Given the description of an element on the screen output the (x, y) to click on. 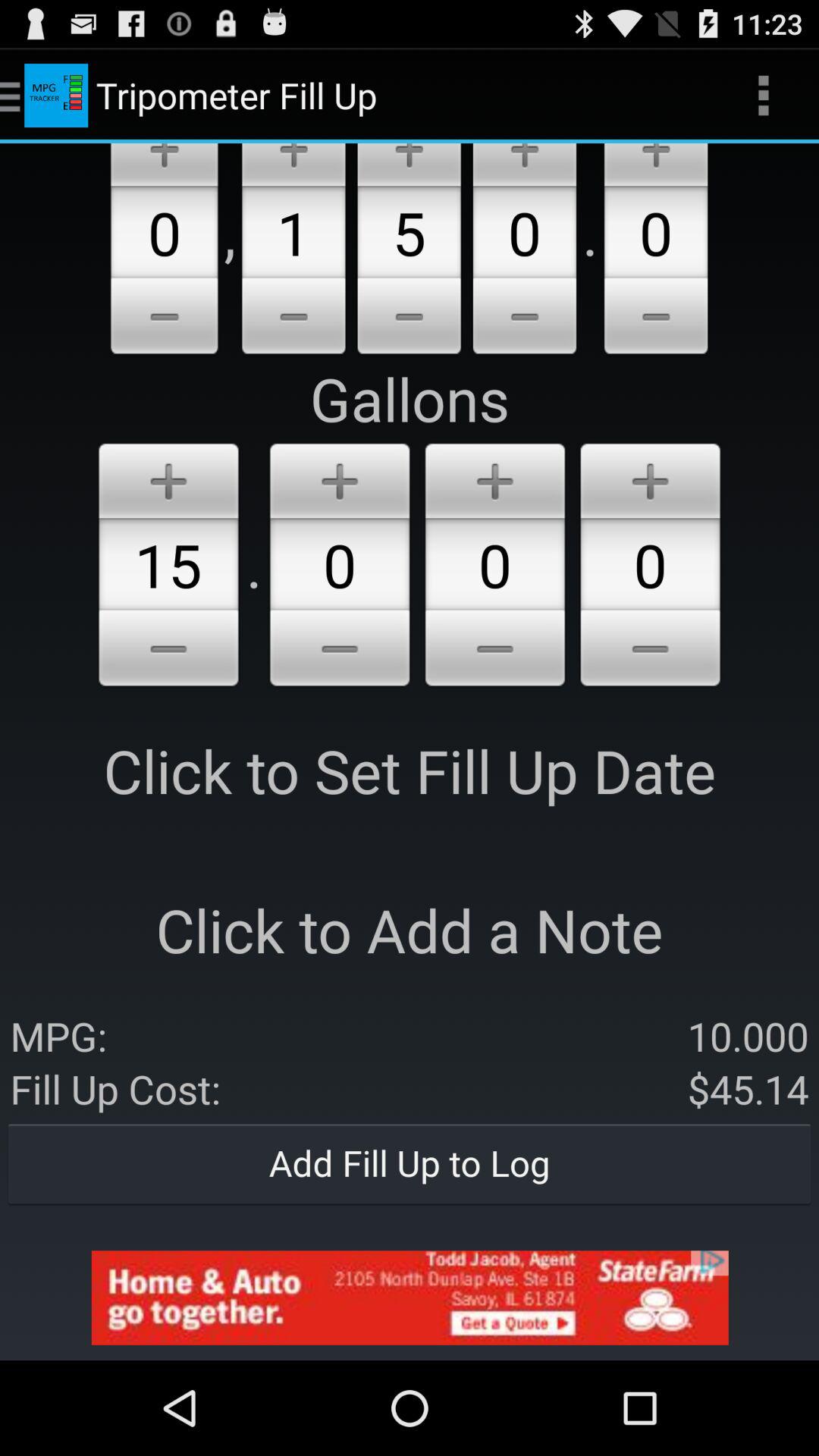
decrease number (293, 318)
